Given the description of an element on the screen output the (x, y) to click on. 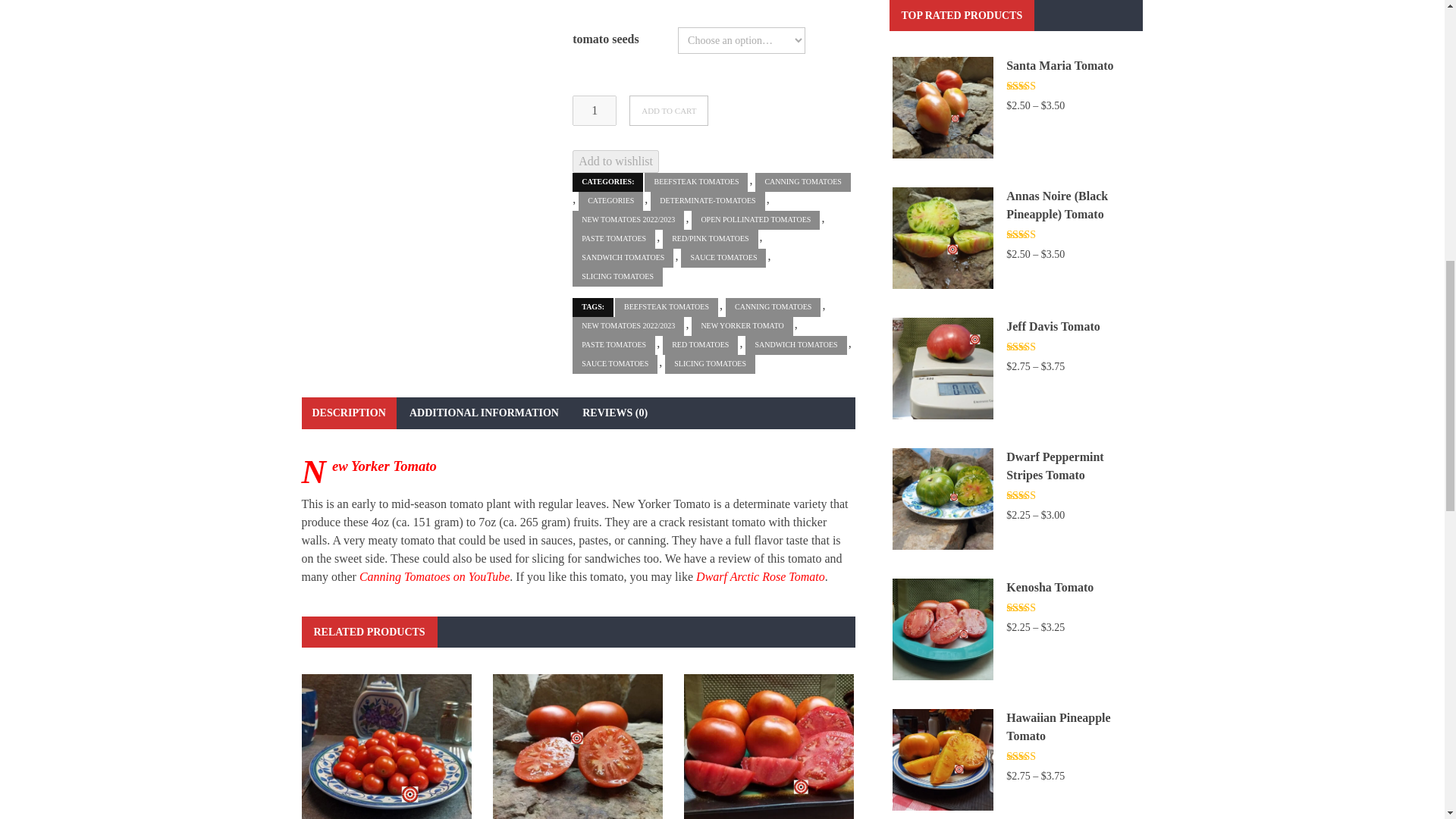
1 (593, 110)
